Given the description of an element on the screen output the (x, y) to click on. 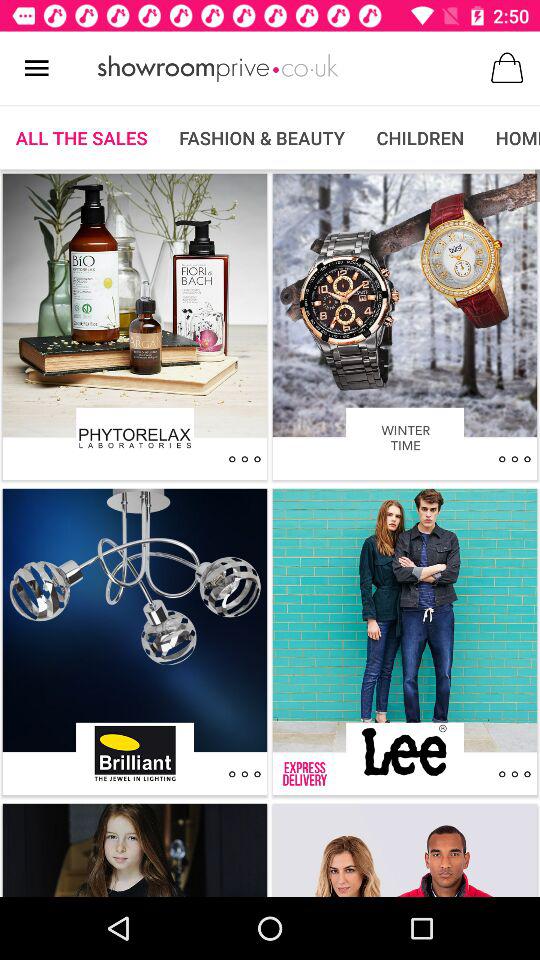
more options (244, 774)
